Given the description of an element on the screen output the (x, y) to click on. 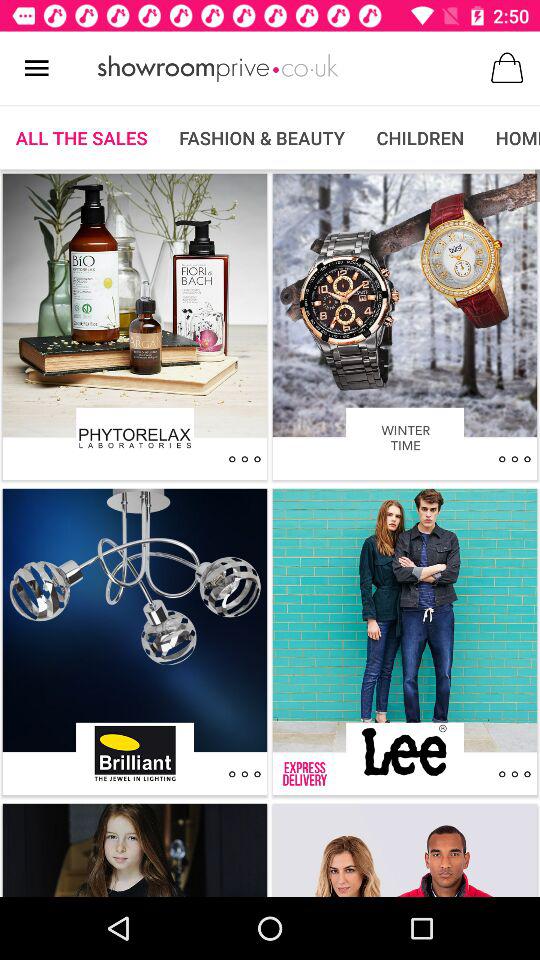
more options (244, 774)
